Given the description of an element on the screen output the (x, y) to click on. 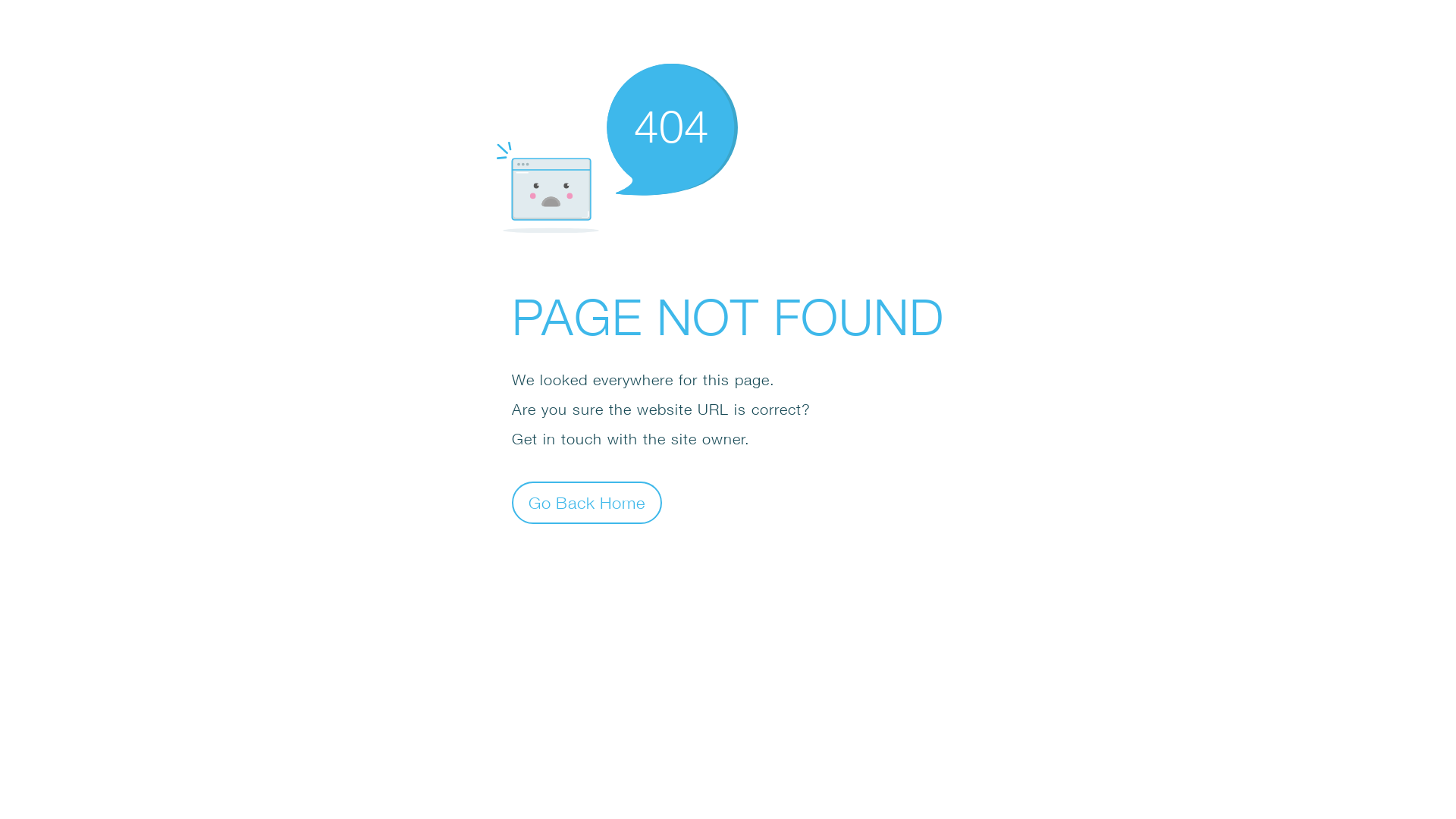
Go Back Home Element type: text (586, 502)
